Given the description of an element on the screen output the (x, y) to click on. 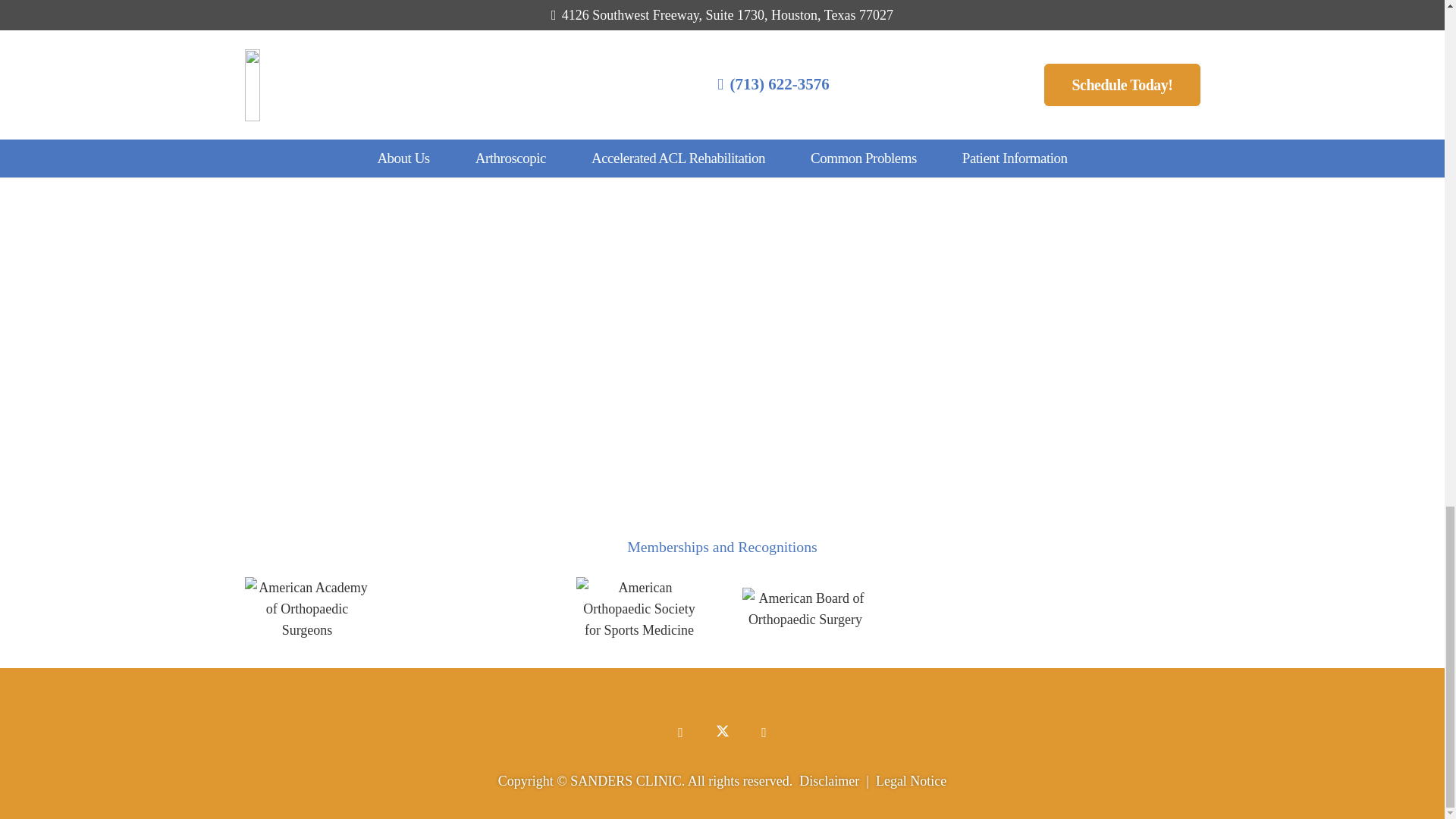
Facebook (680, 732)
Twitter (721, 732)
YouTube (763, 732)
